Given the description of an element on the screen output the (x, y) to click on. 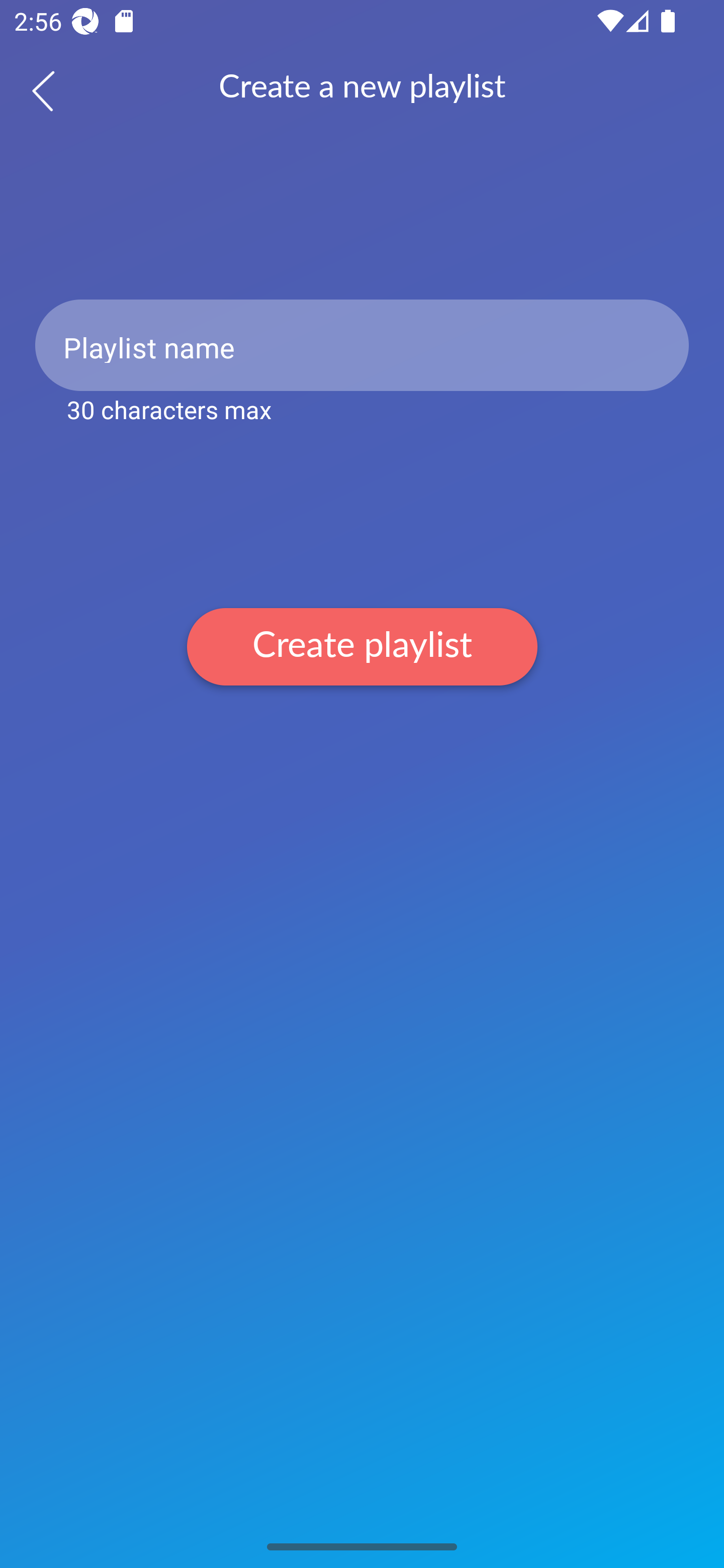
Playlist name (361, 344)
Create playlist (362, 646)
